Given the description of an element on the screen output the (x, y) to click on. 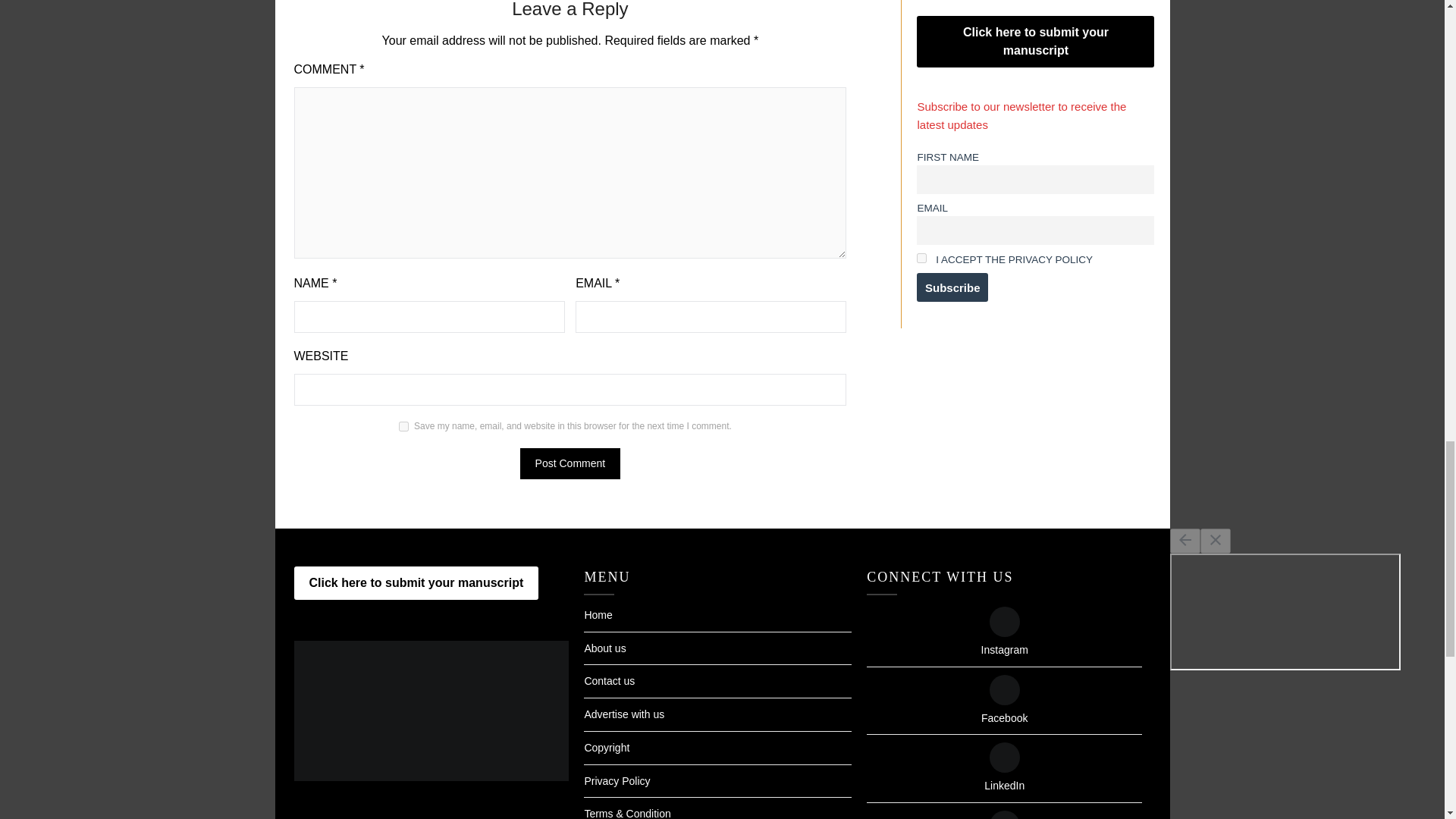
Post Comment (570, 463)
Post Comment (570, 463)
on (921, 257)
yes (403, 426)
Subscribe (952, 287)
